Given the description of an element on the screen output the (x, y) to click on. 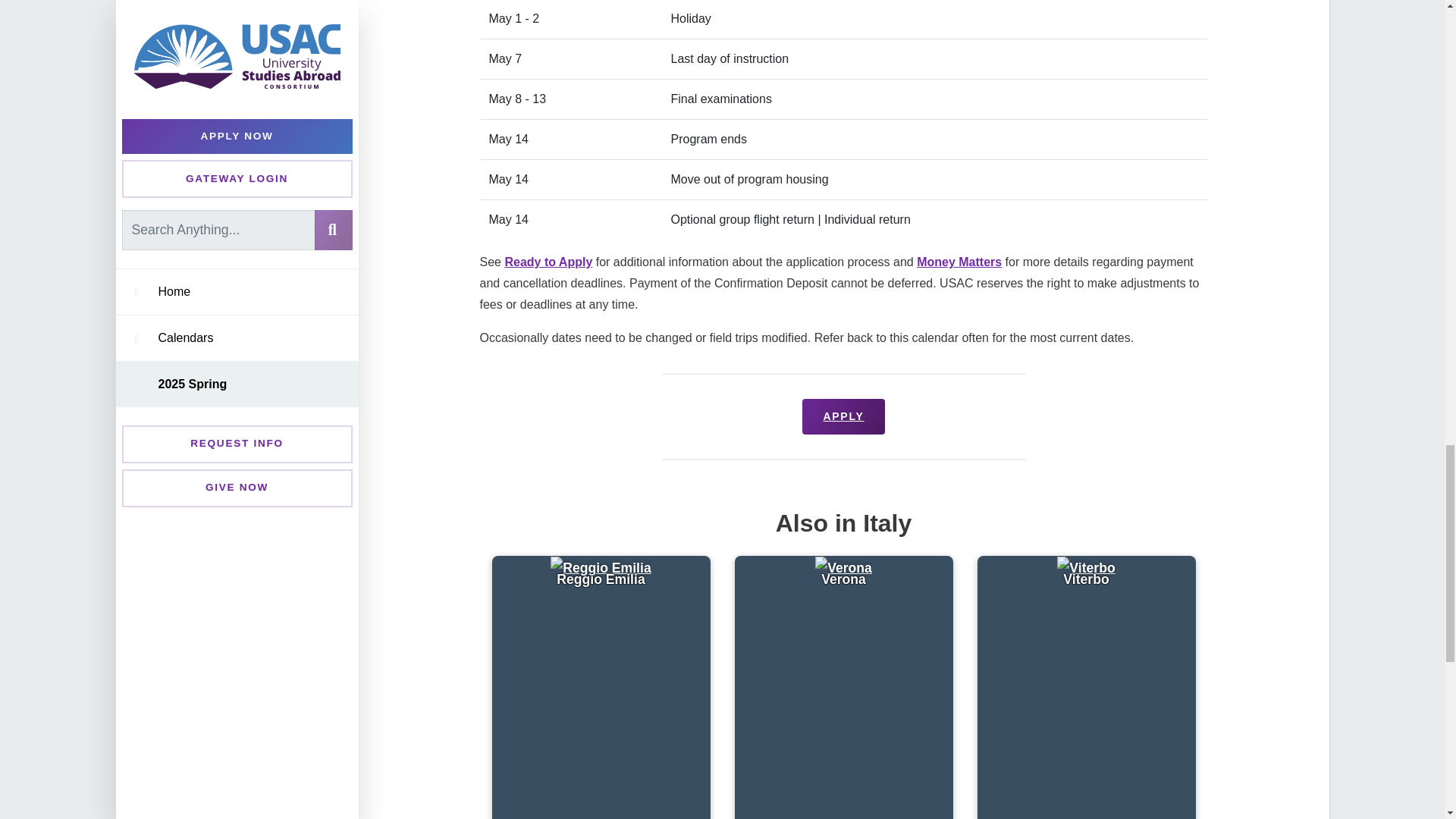
APPLY (843, 416)
Money Matters (959, 261)
Ready to Apply (547, 261)
